Given the description of an element on the screen output the (x, y) to click on. 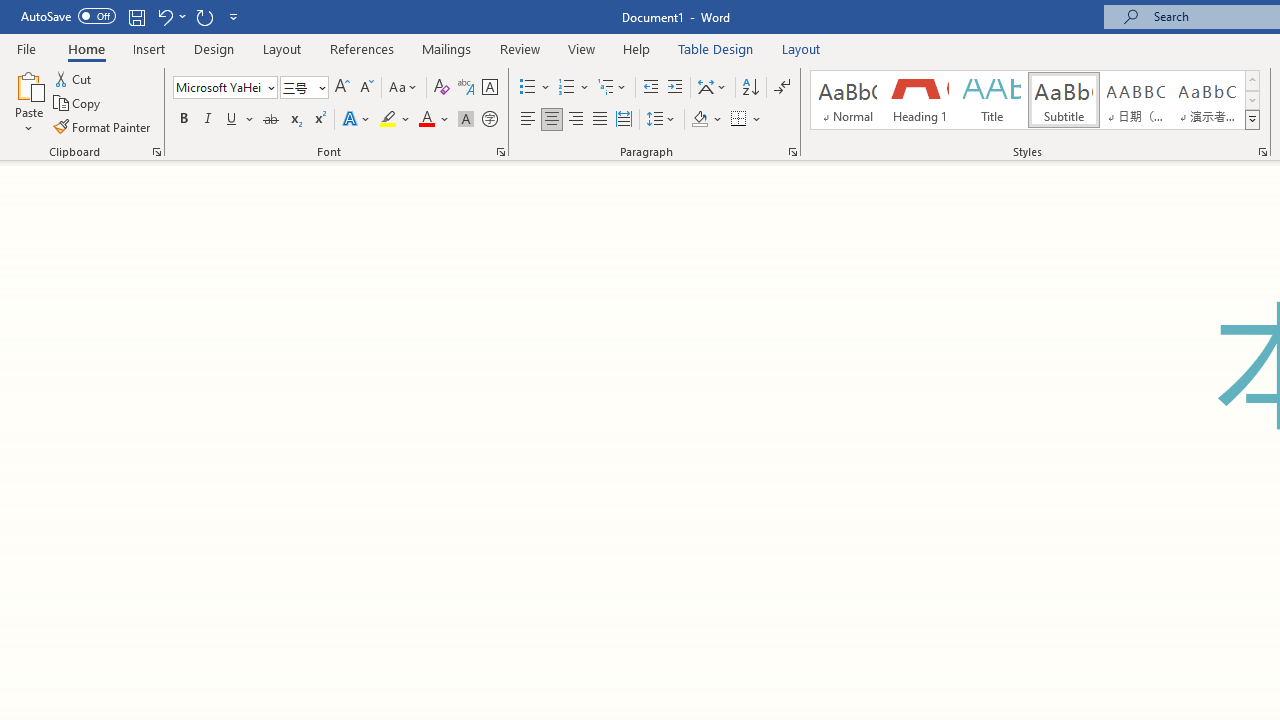
System (10, 11)
Underline (239, 119)
Repeat Style (204, 15)
Align Left (527, 119)
Help (637, 48)
Decrease Indent (650, 87)
Paragraph... (792, 151)
Quick Access Toolbar (131, 16)
AutomationID: QuickStylesGallery (1035, 99)
Subscript (294, 119)
Table Design (715, 48)
Grow Font (342, 87)
